Given the description of an element on the screen output the (x, y) to click on. 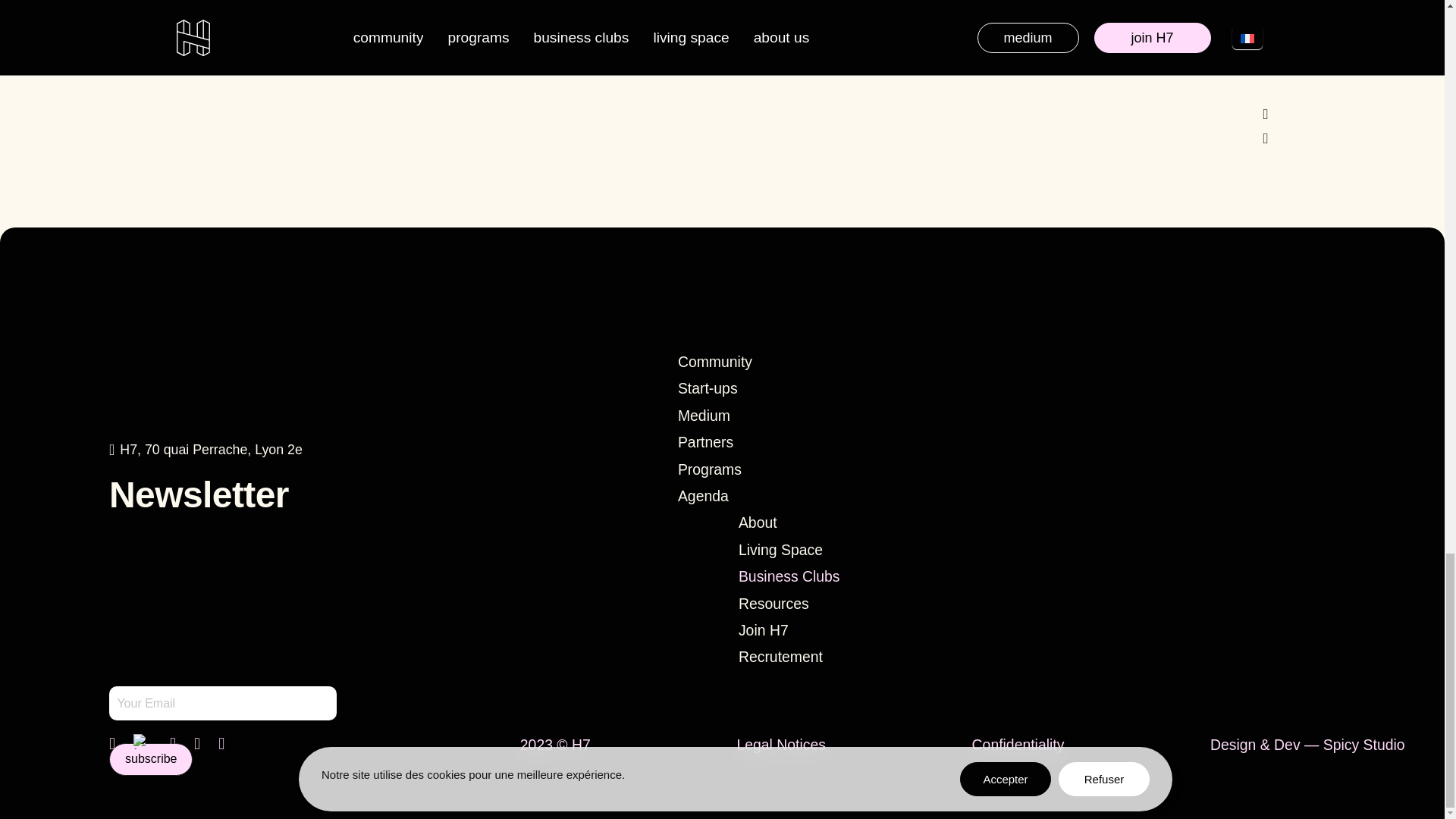
Living Space (753, 550)
Partners (731, 442)
Business Clubs (761, 576)
H7, 70 quai Perrache, Lyon 2e (205, 449)
subscribe (150, 758)
subscribe (150, 758)
Community (731, 361)
Start-ups (731, 388)
About (730, 522)
Agenda (731, 496)
